Given the description of an element on the screen output the (x, y) to click on. 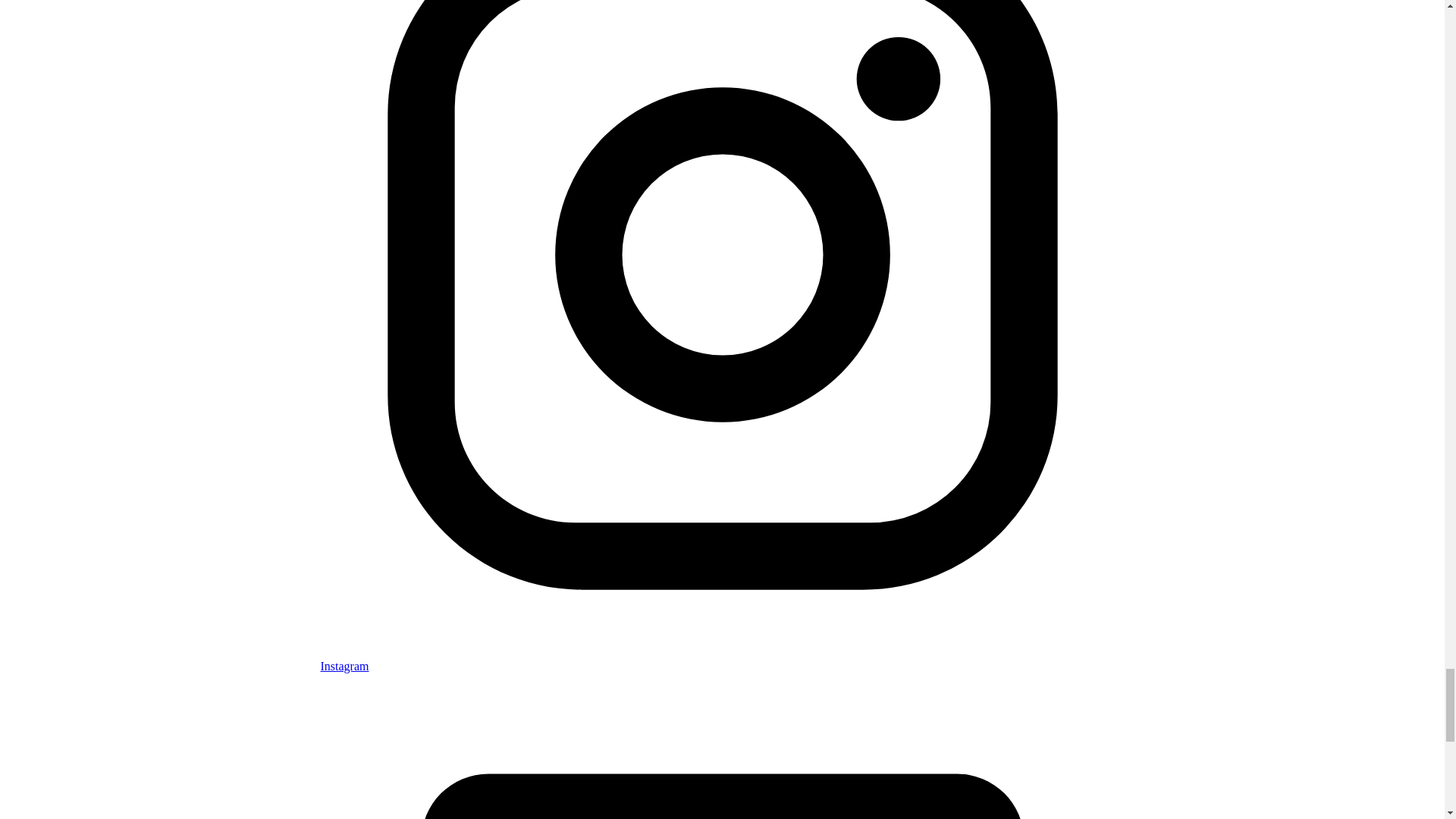
Instagram (722, 659)
